Given the description of an element on the screen output the (x, y) to click on. 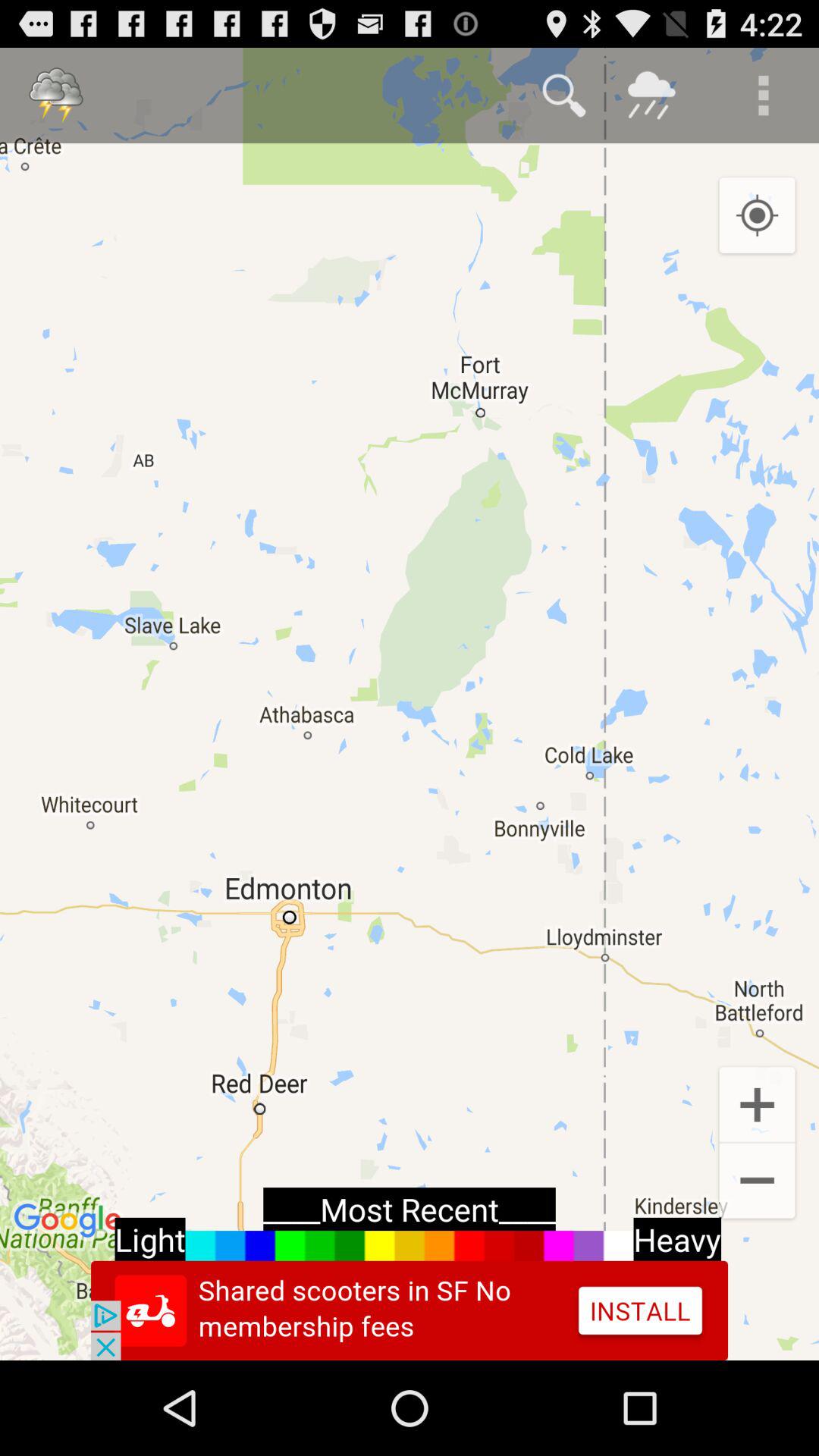
advertisement (409, 1310)
